Given the description of an element on the screen output the (x, y) to click on. 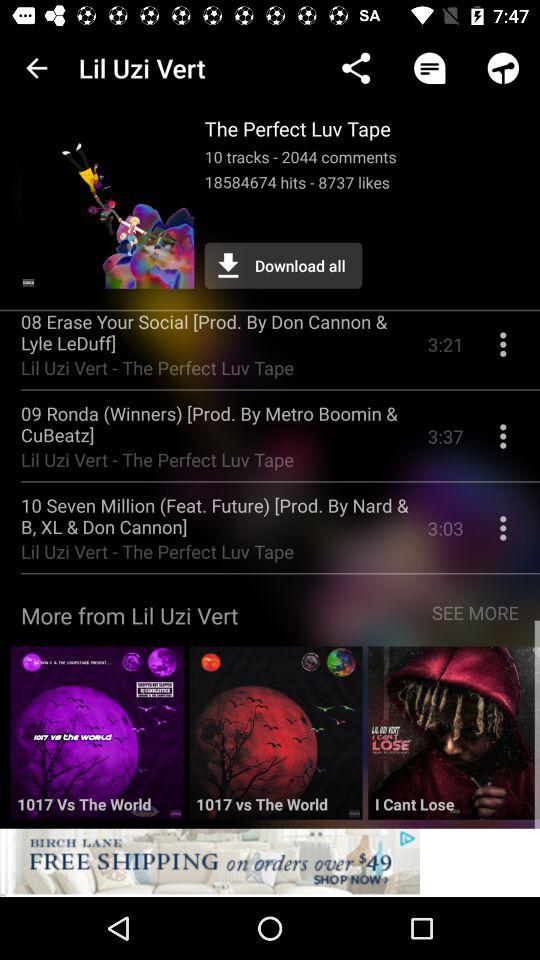
open the app next to the lil uzi vert icon (356, 67)
